Given the description of an element on the screen output the (x, y) to click on. 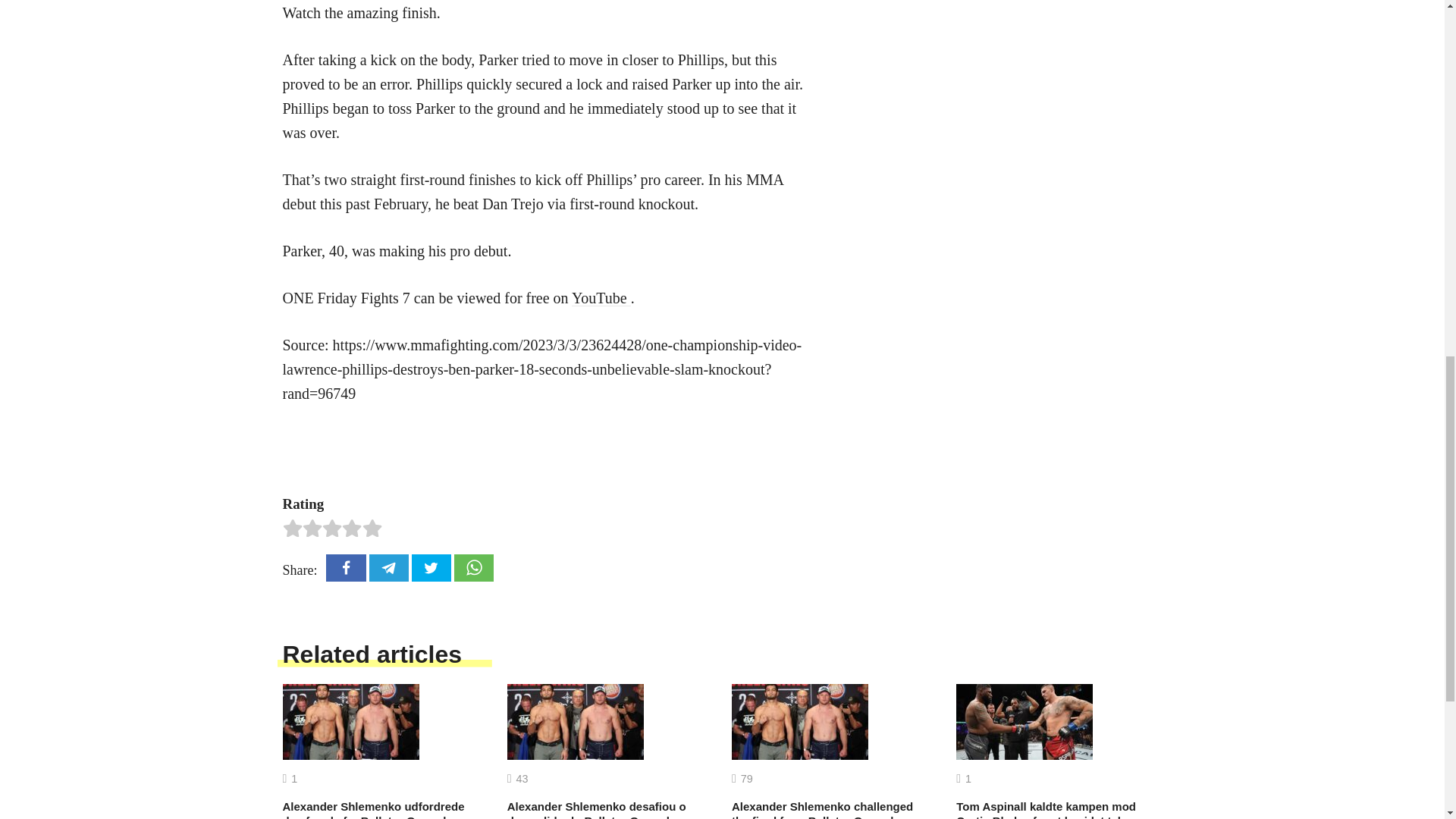
YouTube (601, 297)
